Given the description of an element on the screen output the (x, y) to click on. 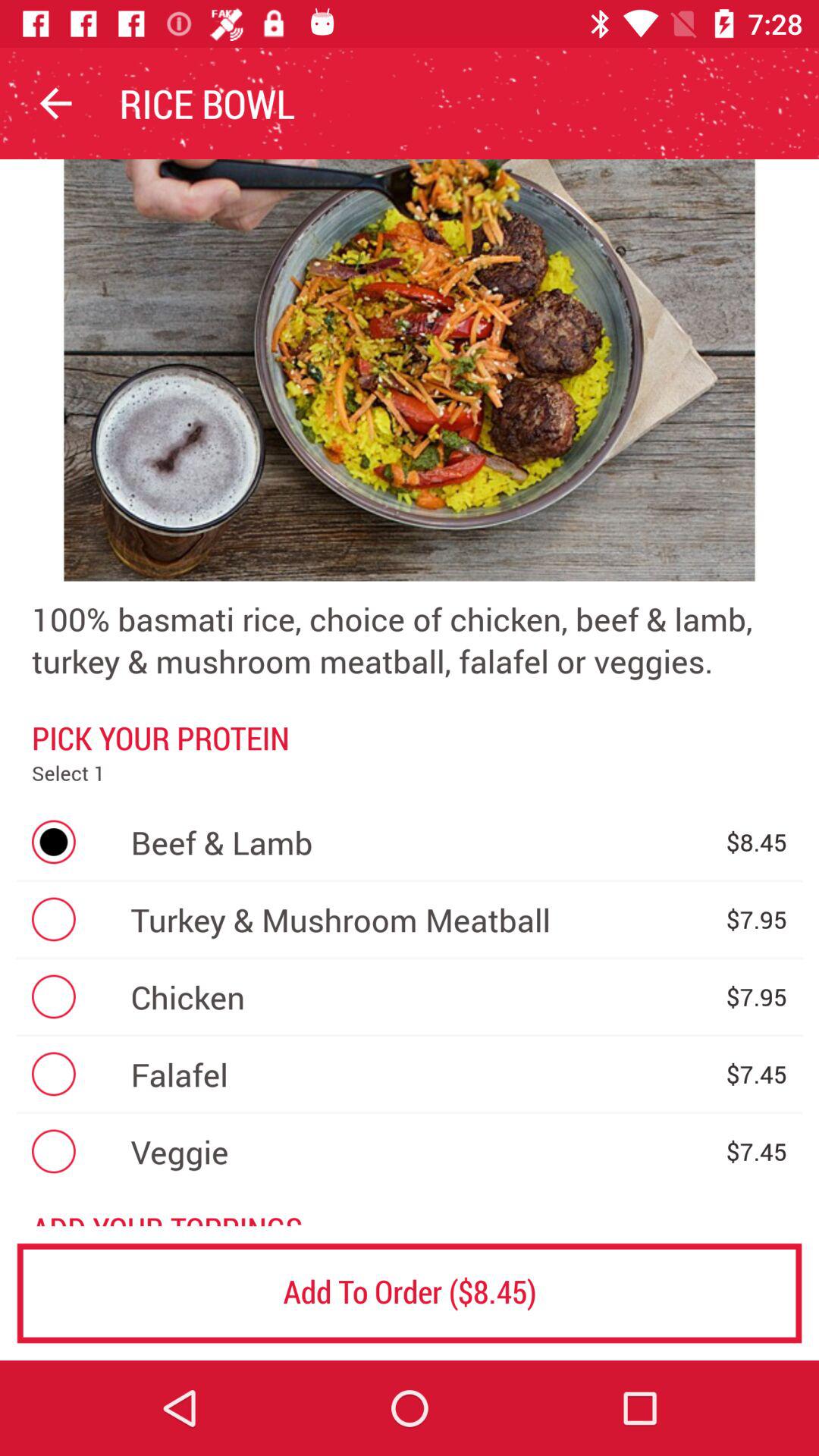
open the icon below the add your toppings item (409, 1293)
